Given the description of an element on the screen output the (x, y) to click on. 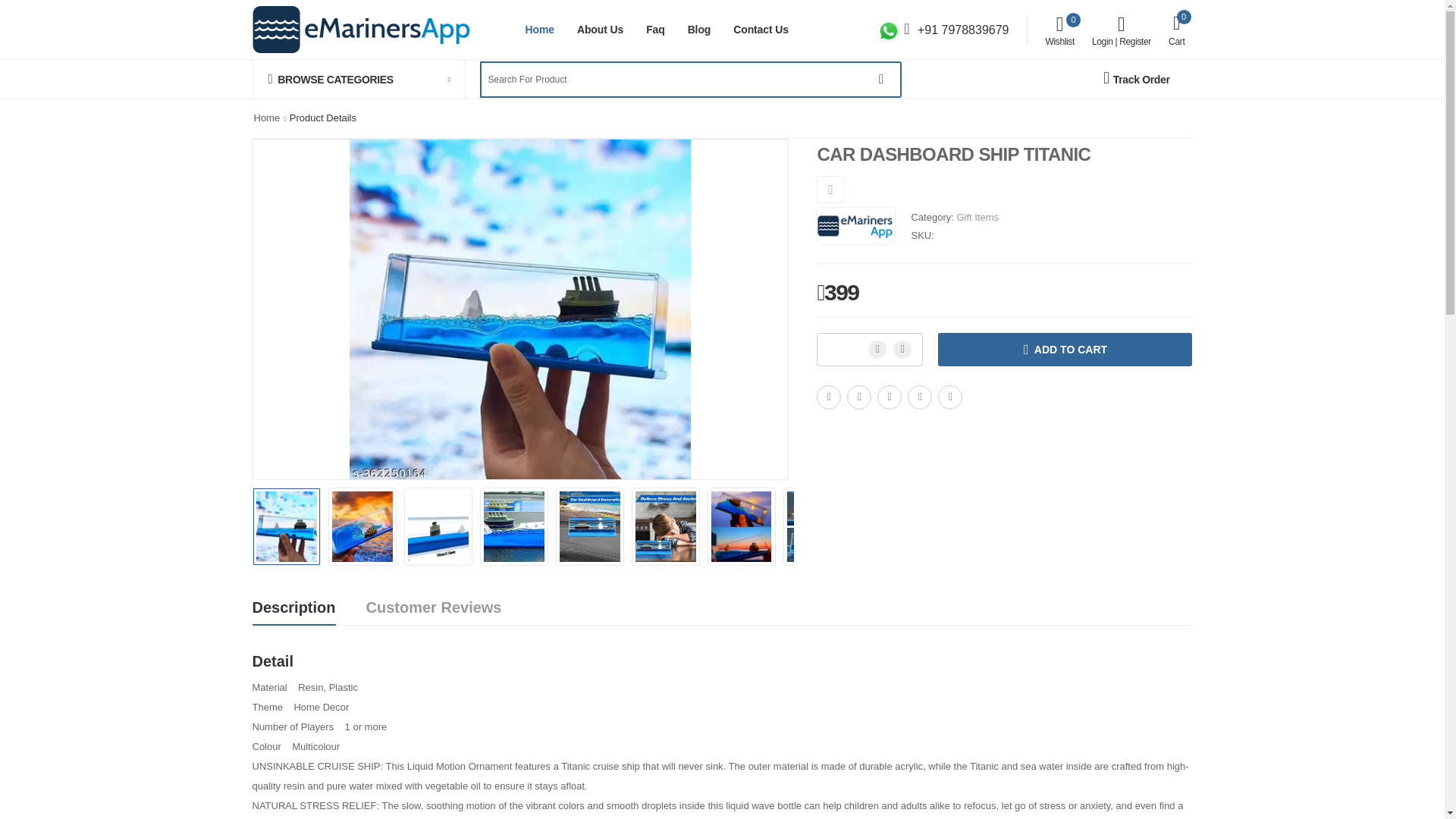
About Us (1059, 29)
Contact Us (599, 29)
Add to wishlist (761, 29)
Browse Categories (830, 189)
BROWSE CATEGORIES (357, 78)
